Given the description of an element on the screen output the (x, y) to click on. 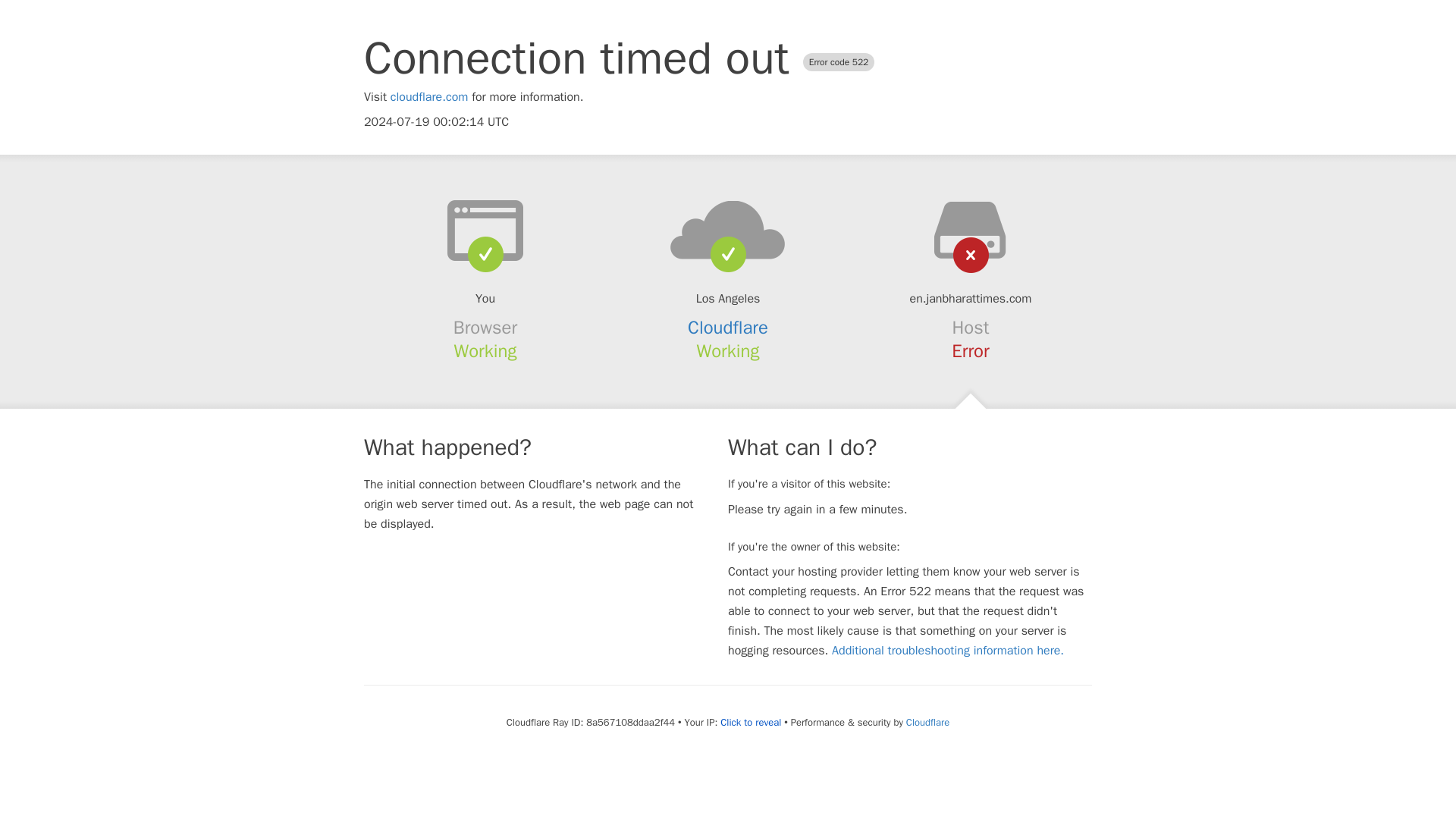
Additional troubleshooting information here. (947, 650)
Cloudflare (927, 721)
Click to reveal (750, 722)
Cloudflare (727, 327)
cloudflare.com (429, 96)
